Given the description of an element on the screen output the (x, y) to click on. 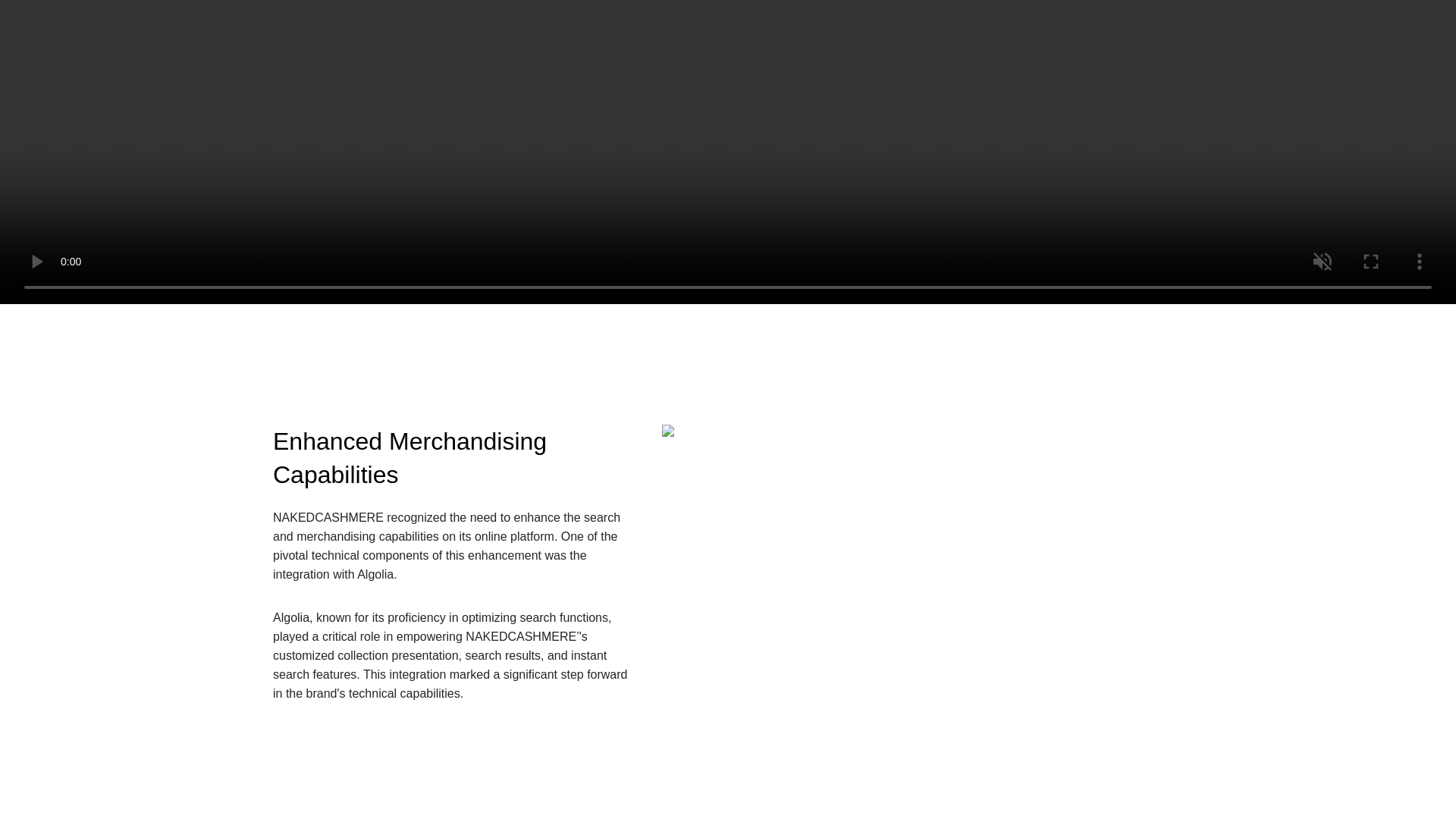
Enhanced Merchandising Capabilities (456, 459)
